Given the description of an element on the screen output the (x, y) to click on. 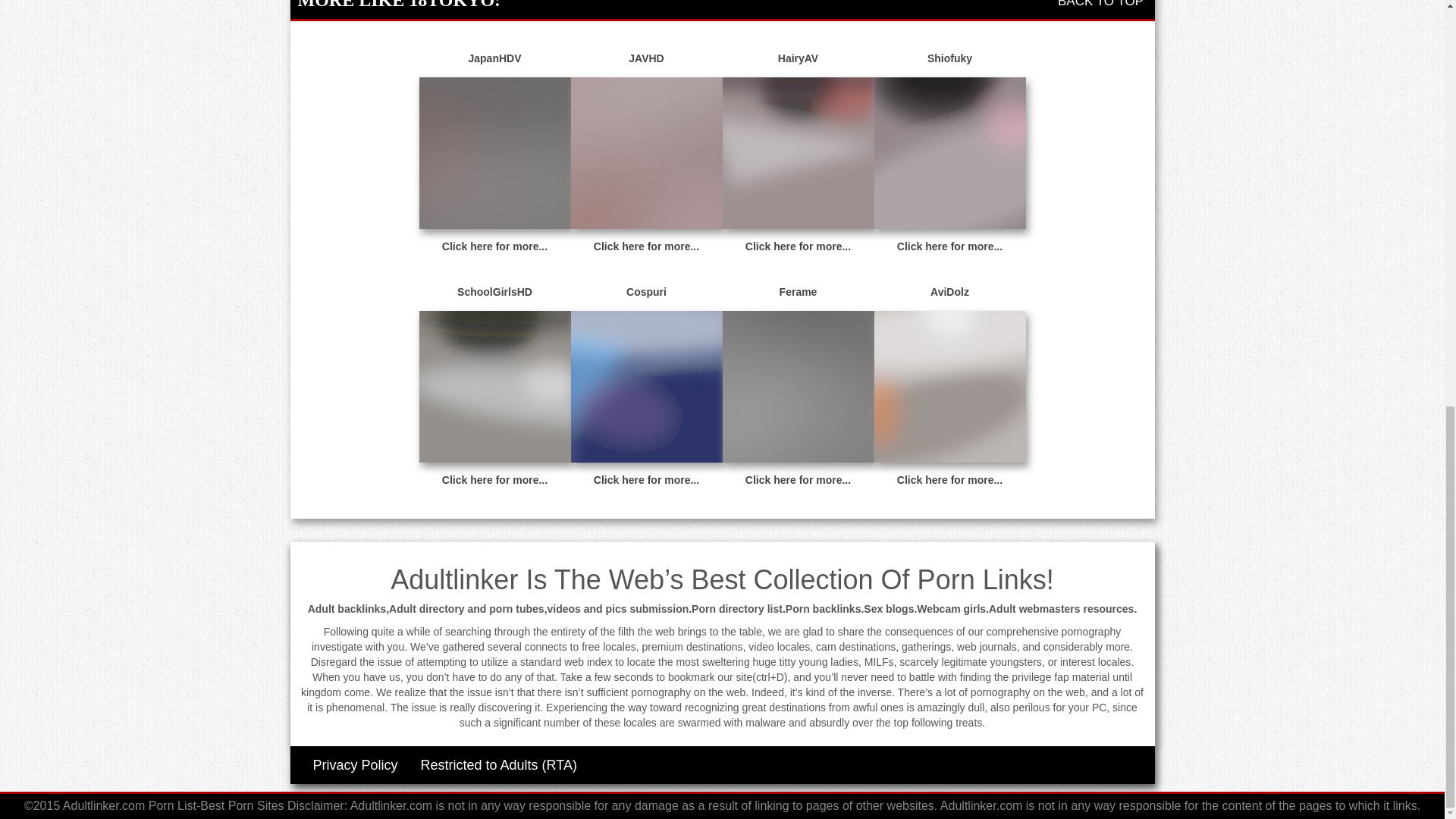
Click here for more... (646, 480)
SchoolGirlsHD (494, 292)
Click here for more... (494, 246)
Click here for more... (646, 246)
JAVHD (646, 58)
BACK TO TOP (1102, 4)
Click here for more... (949, 480)
Click here for more... (797, 246)
Shiofuky (949, 58)
Click here for more... (949, 246)
Click here for more... (494, 480)
JapanHDV (494, 58)
Ferame (797, 292)
AviDolz (949, 292)
Cospuri (646, 292)
